Given the description of an element on the screen output the (x, y) to click on. 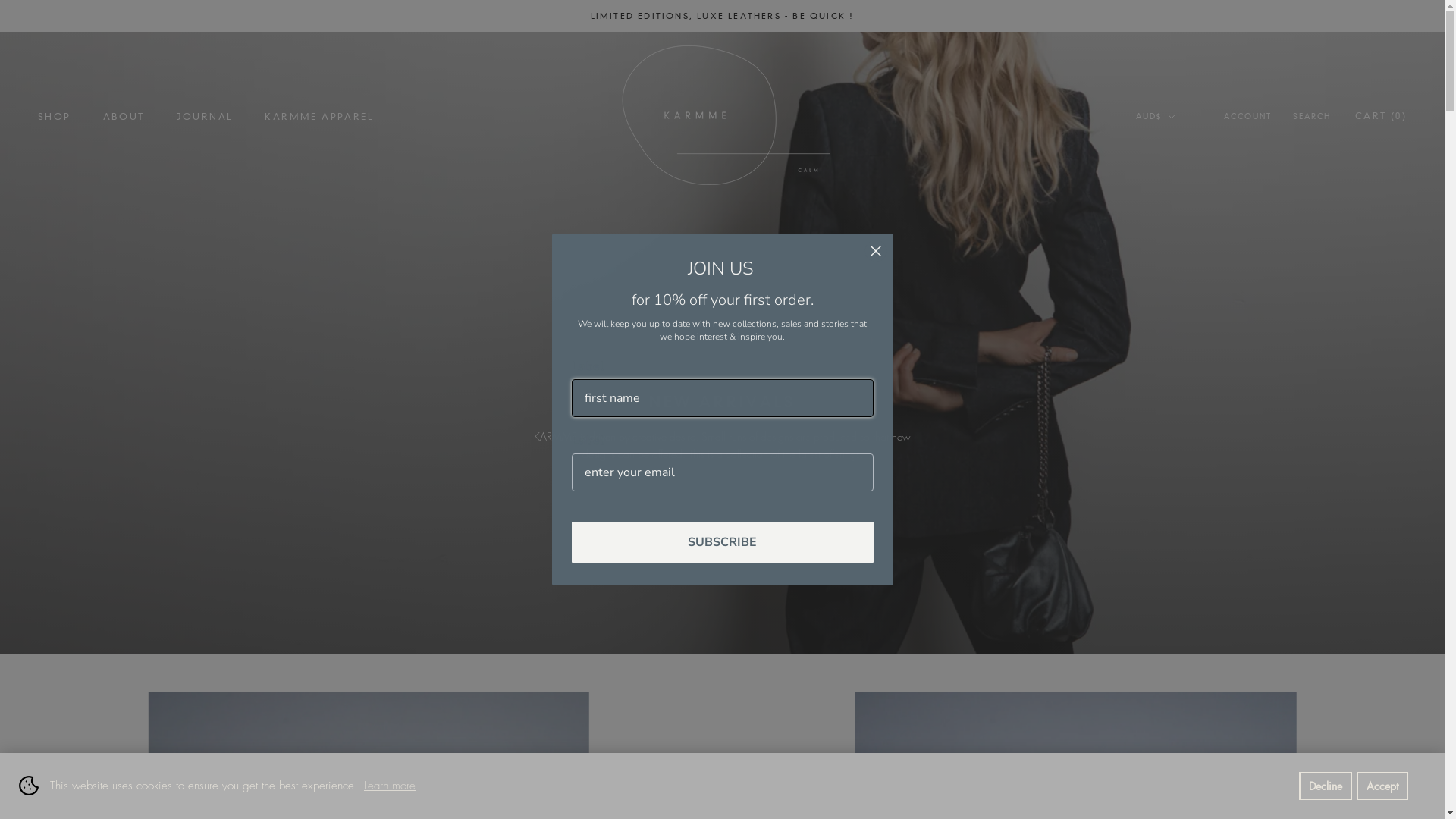
Decline Element type: text (1325, 785)
Learn more Element type: text (389, 786)
Shopify online store chat Element type: hover (34, 780)
JOURNAL
JOURNAL Element type: text (204, 116)
AUD$ Element type: text (1155, 117)
ABOUT Element type: text (123, 116)
USD Element type: text (1174, 248)
AUD Element type: text (1174, 148)
GBP Element type: text (1174, 168)
SEARCH Element type: text (1311, 116)
RUB Element type: text (1174, 208)
LIMITED EDITIONS, LUXE LEATHERS - BE QUICK ! Element type: text (722, 15)
SGD Element type: text (1174, 228)
SUBSCRIBE Element type: text (722, 541)
NZD Element type: text (1174, 188)
Accept Element type: text (1382, 785)
Submit Element type: text (17, 8)
SHOP Element type: text (54, 116)
ACCOUNT Element type: text (1247, 116)
KARMME APPAREL
KARMME APPAREL Element type: text (318, 116)
CART (0) Element type: text (1380, 115)
